Given the description of an element on the screen output the (x, y) to click on. 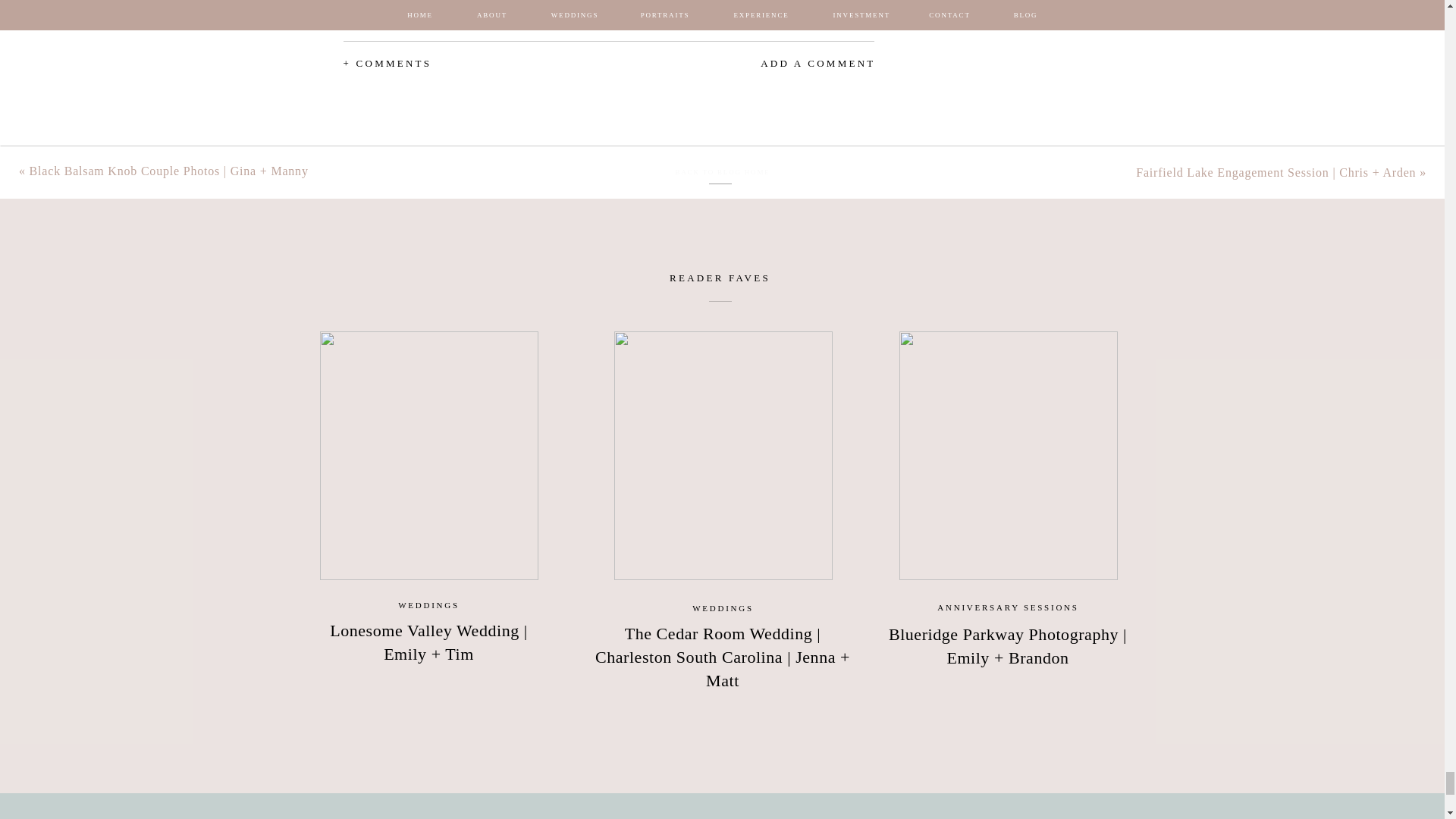
ADD A COMMENT (776, 64)
